Given the description of an element on the screen output the (x, y) to click on. 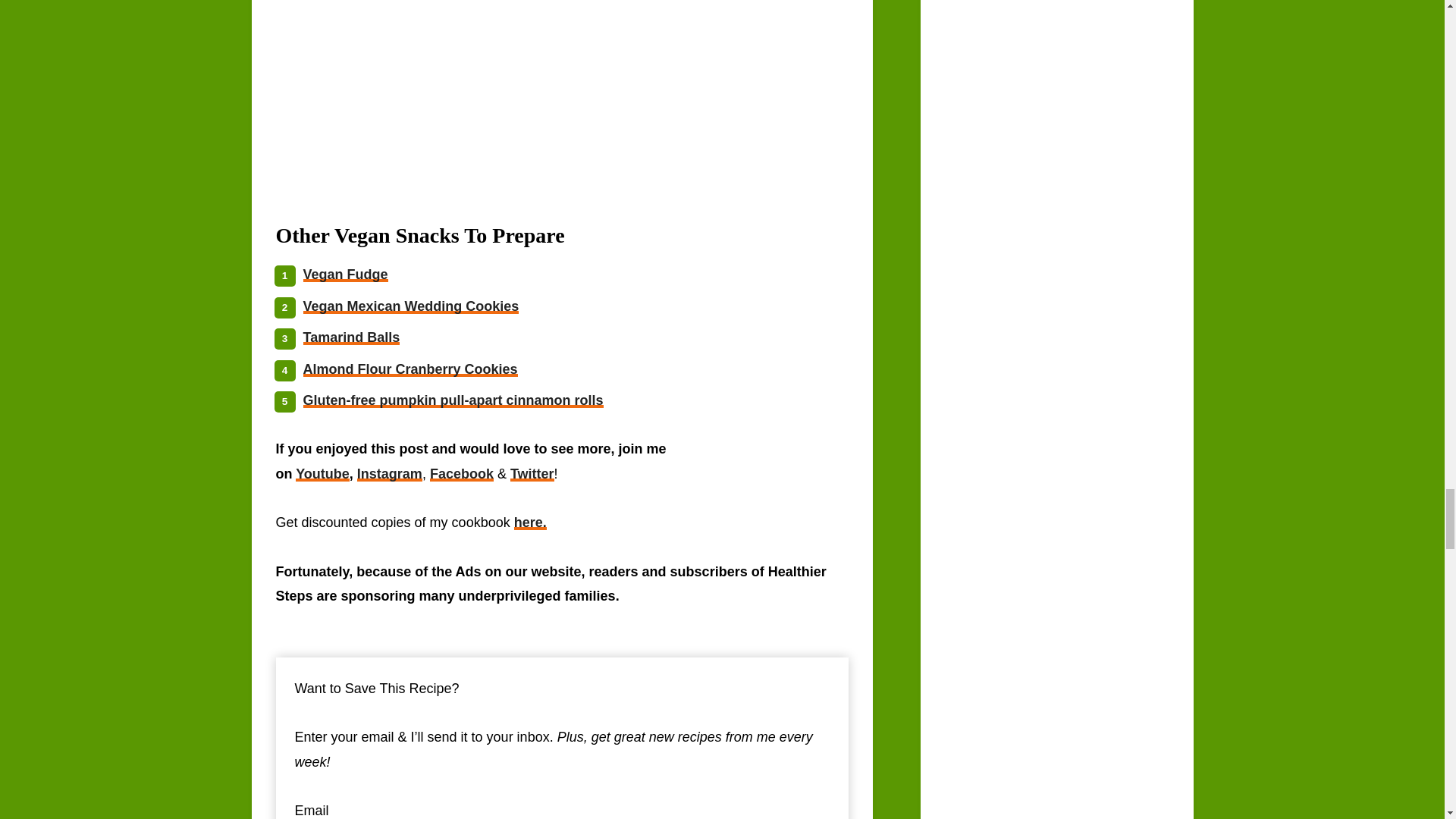
Almond Flour Cranberry Cookies (410, 368)
Vegan Mexican Wedding Cookies (410, 305)
Tamarind Balls (351, 337)
Vegan Fudge (345, 273)
